Given the description of an element on the screen output the (x, y) to click on. 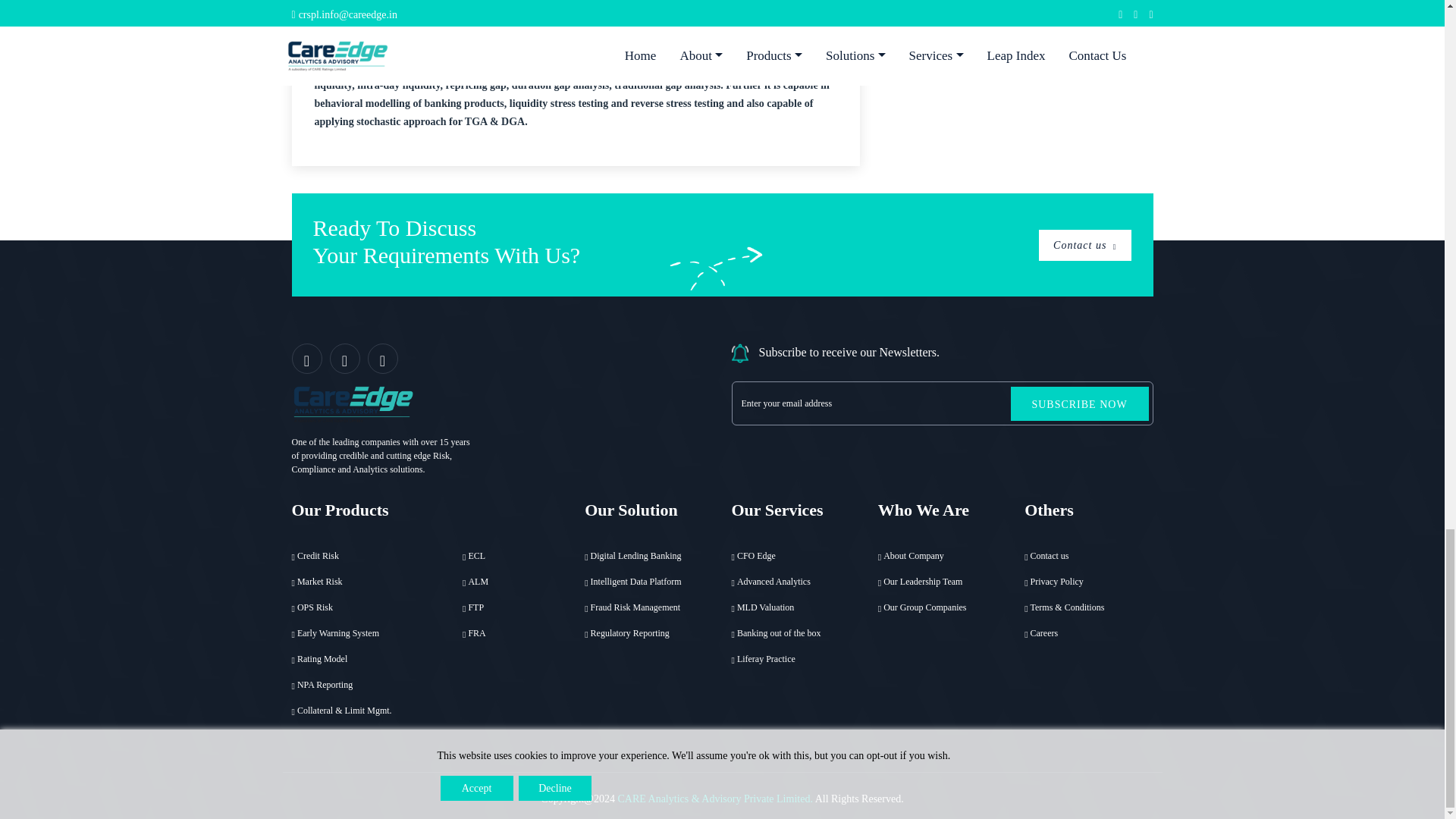
Subscribe Now (1079, 403)
